Given the description of an element on the screen output the (x, y) to click on. 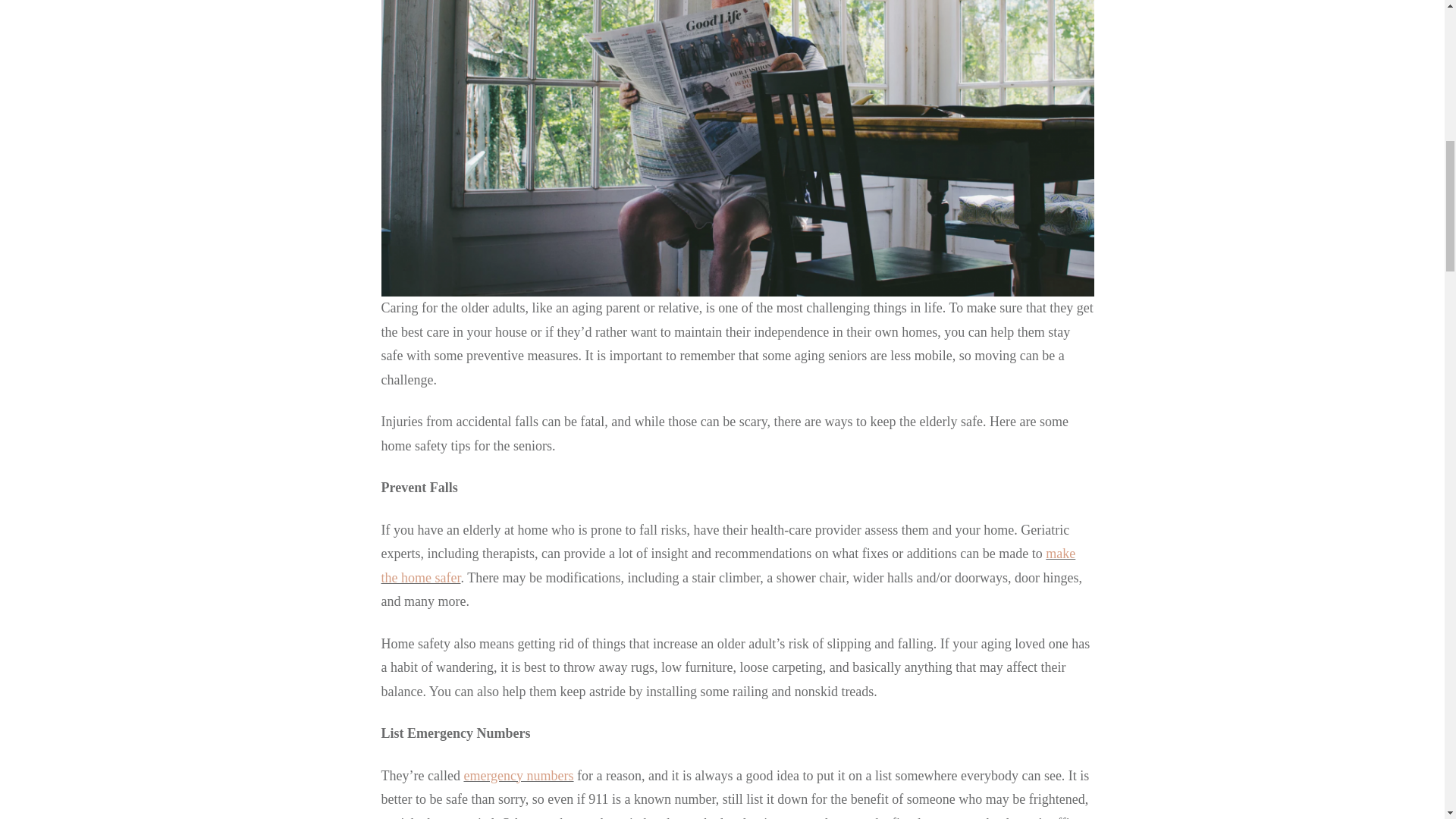
make the home safer (727, 565)
emergency numbers (518, 775)
